Given the description of an element on the screen output the (x, y) to click on. 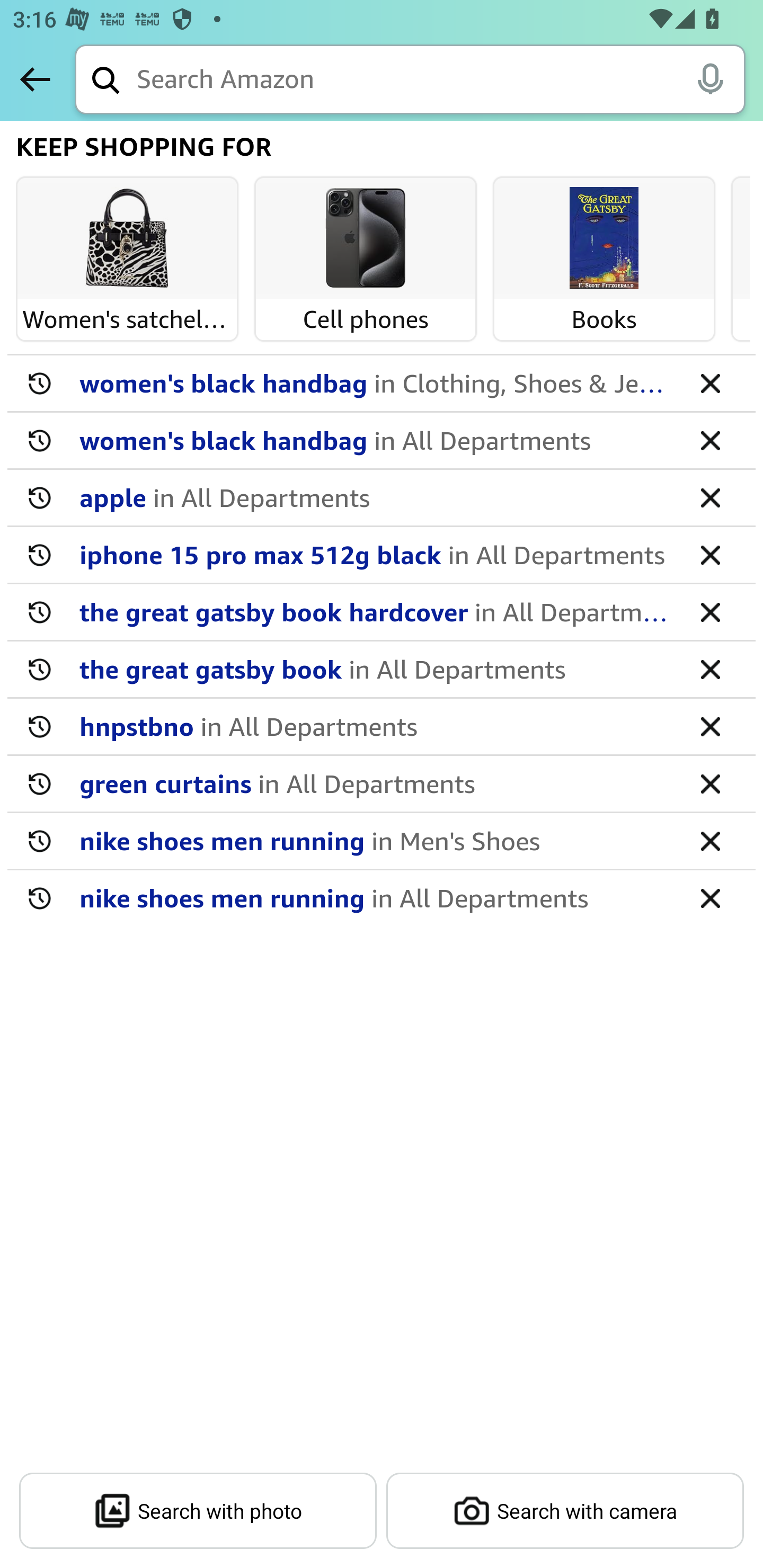
Search Amazon (440, 80)
Back (35, 78)
Alexa (710, 78)
Women's satchel handbags (126, 238)
Cell phones (365, 238)
Books (603, 238)
women's black handbag delete (381, 383)
women's black handbag (374, 382)
delete (710, 382)
women's black handbag delete (381, 440)
women's black handbag (374, 439)
delete (710, 439)
apple delete (381, 497)
apple (374, 496)
delete (710, 496)
iphone 15 pro max 512g black delete (381, 554)
iphone 15 pro max 512g black (374, 554)
delete (710, 554)
the great gatsby book hardcover delete (381, 612)
the great gatsby book hardcover (374, 611)
delete (710, 611)
the great gatsby book delete (381, 669)
the great gatsby book (374, 668)
delete (710, 668)
hnpstbno delete (381, 726)
hnpstbno (374, 725)
delete (710, 725)
green curtains delete (381, 783)
green curtains (374, 783)
delete (710, 783)
nike shoes men running delete (381, 841)
nike shoes men running (374, 840)
delete (710, 840)
nike shoes men running delete (381, 897)
nike shoes men running (374, 897)
delete (710, 897)
Search with photo (197, 1510)
Search with camera (564, 1510)
